Given the description of an element on the screen output the (x, y) to click on. 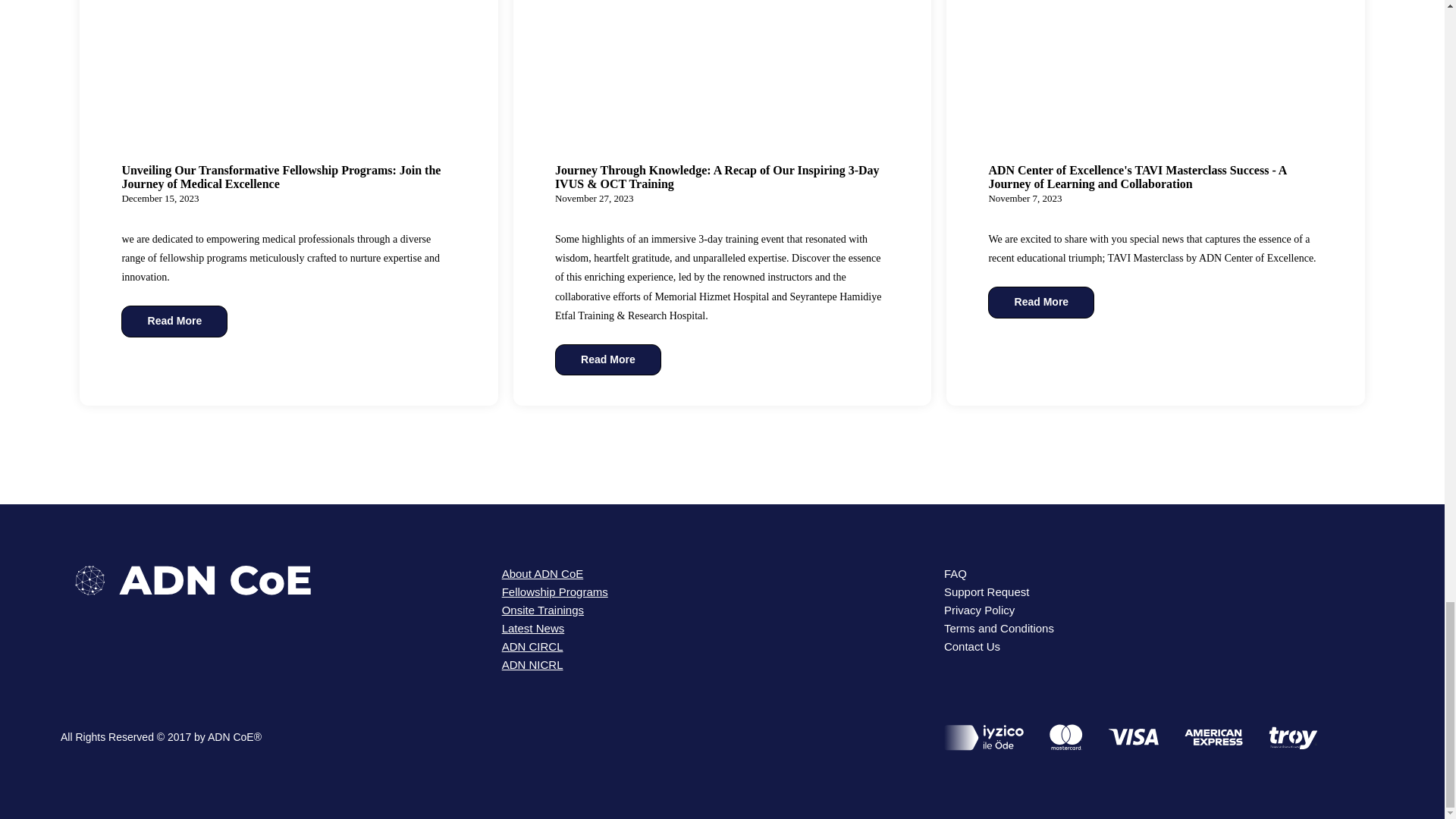
Read More (173, 321)
Support Request (986, 591)
ADN NICRL (532, 664)
Privacy Policy (978, 609)
Onsite Trainings (542, 609)
Fellowship Programs (555, 591)
Latest News (533, 627)
Read More (1041, 302)
Terms and Conditions (998, 627)
FAQ (954, 573)
ADN CIRCL (532, 645)
About ADN CoE (542, 573)
Read More (607, 359)
